Given the description of an element on the screen output the (x, y) to click on. 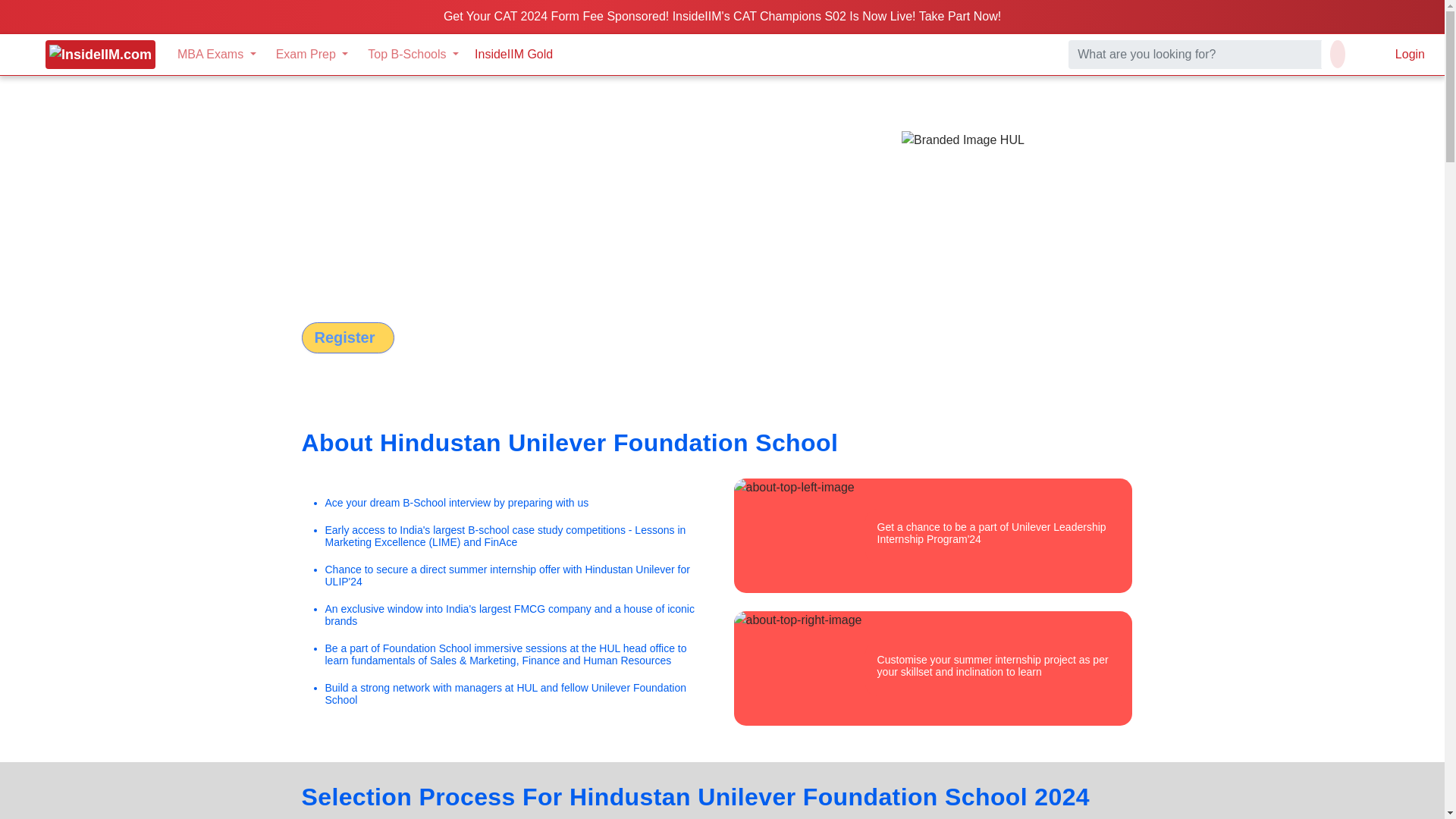
MBA Exams (216, 54)
Exam Prep (312, 54)
